Given the description of an element on the screen output the (x, y) to click on. 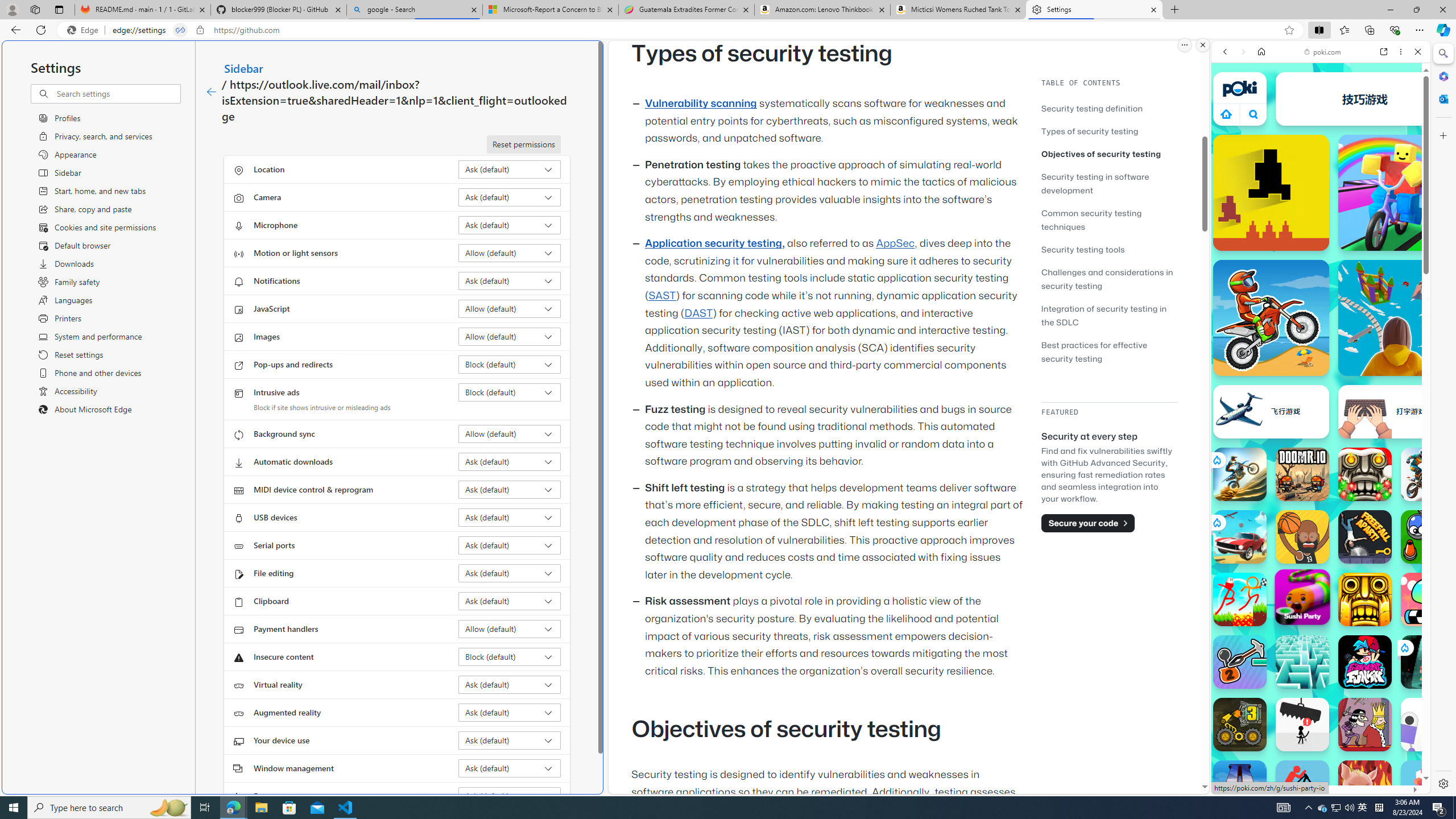
Stunt Paradise Stunt Paradise (1239, 536)
Hills of Steel Hills of Steel poki.com (1264, 548)
Combat Reloaded (1349, 523)
Side bar (1443, 418)
Big Tower Tiny Square 2 (1239, 787)
Insecure content Block (default) (509, 656)
Search settings (117, 93)
WEB   (1230, 130)
Maze: Path of Light Maze: Path of Light (1302, 661)
SimplyUp.io SimplyUp.io (1396, 317)
Vulnerability scanning (701, 103)
Odd Bot Out Odd Bot Out (1427, 724)
Microsoft-Report a Concern to Bing (550, 9)
